Given the description of an element on the screen output the (x, y) to click on. 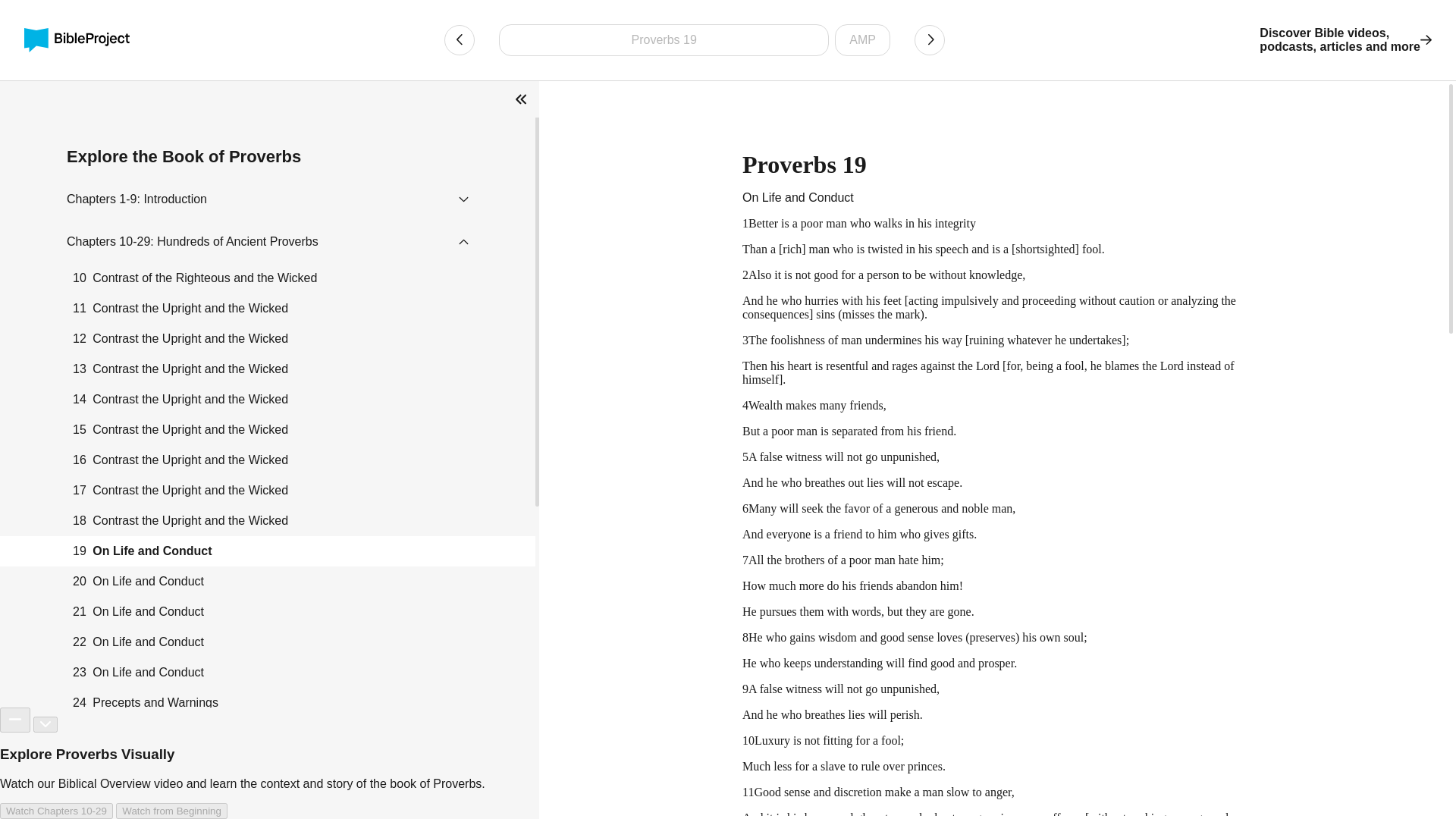
10 Contrast of the Righteous and the Wicked (267, 277)
Proverbs 18 (459, 40)
15 Contrast the Upright and the Wicked (267, 429)
23 On Life and Conduct (267, 672)
26 Similitudes, Instructions (267, 763)
20 On Life and Conduct (267, 581)
17 Contrast the Upright and the Wicked (267, 490)
19 On Life and Conduct (267, 551)
22 On Life and Conduct (267, 642)
Chapters 10-29: Hundreds of Ancient Proverbs (192, 241)
